Given the description of an element on the screen output the (x, y) to click on. 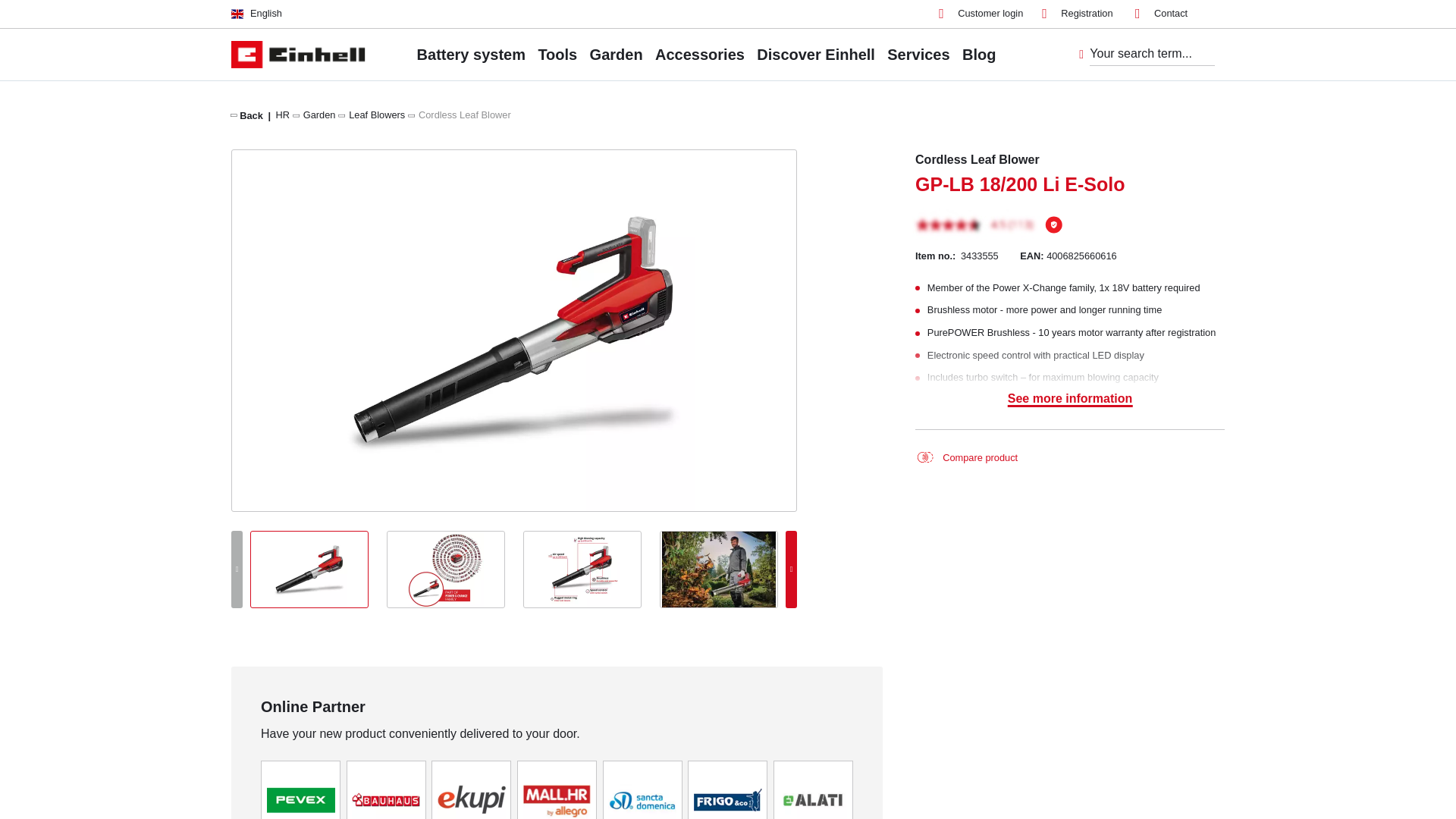
Battery system (470, 54)
Contact (1161, 13)
Customer login (981, 13)
Frigo (727, 798)
eKupi (471, 798)
Bauhaus (386, 798)
HR (282, 114)
Sancta Domenica (642, 798)
Leaf Blowers (376, 114)
Pevex (300, 798)
